Given the description of an element on the screen output the (x, y) to click on. 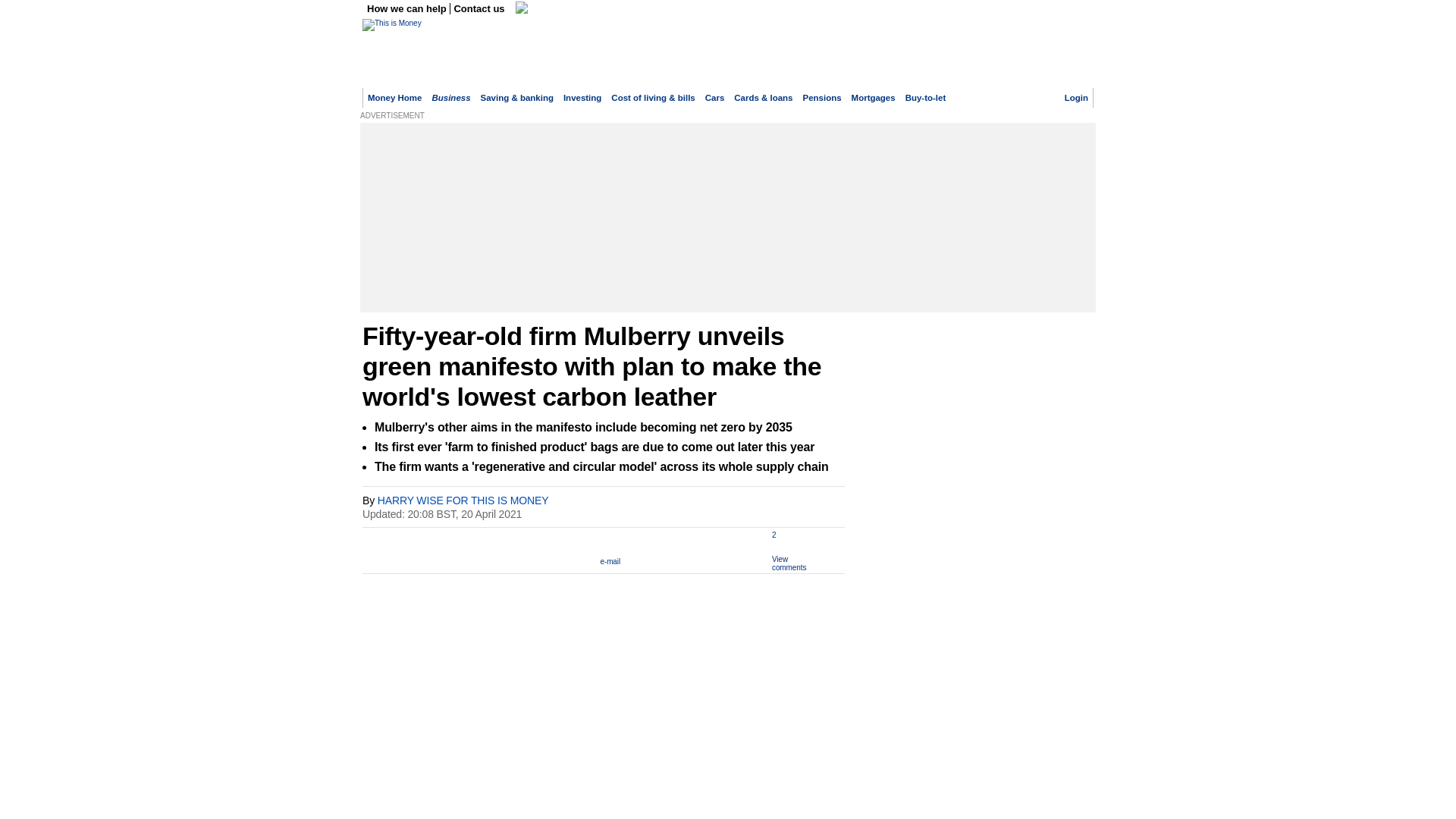
Buy-to-let (925, 97)
Money Home (395, 97)
Pensions (822, 97)
Login (1075, 97)
Business (450, 97)
Contact us (479, 8)
Mortgages (873, 97)
How we can help (407, 8)
Investing (582, 97)
Cars (714, 97)
